Given the description of an element on the screen output the (x, y) to click on. 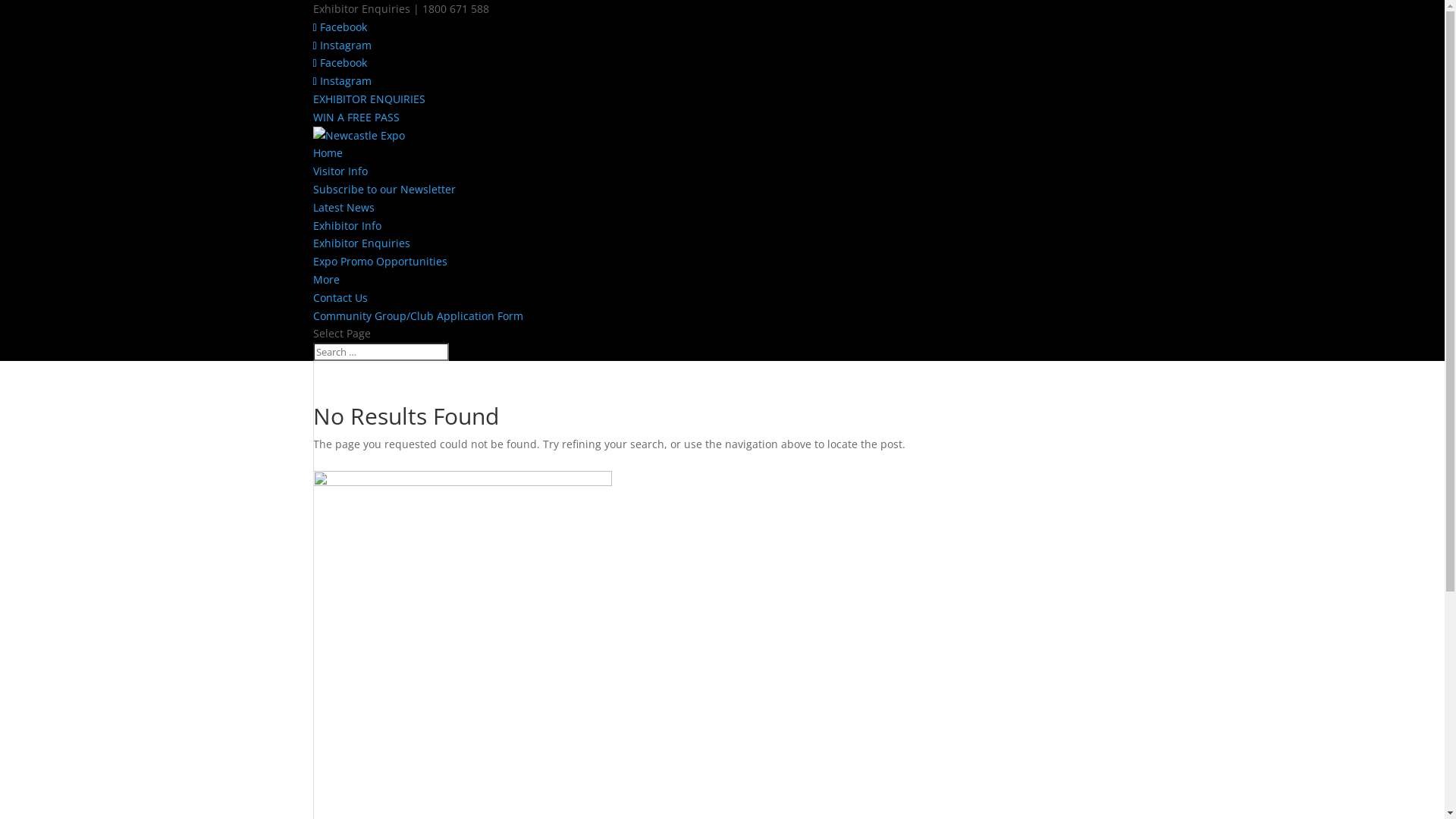
Facebook Element type: text (339, 62)
Home Element type: text (327, 152)
Subscribe to our Newsletter Element type: text (383, 189)
Latest News Element type: text (342, 207)
EXHIBITOR ENQUIRIES Element type: text (368, 98)
Instagram Element type: text (341, 44)
Search for: Element type: hover (380, 351)
Exhibitor Enquiries Element type: text (360, 242)
Instagram Element type: text (341, 80)
Exhibitor Info Element type: text (346, 225)
Community Group/Club Application Form Element type: text (417, 315)
Expo Promo Opportunities Element type: text (379, 261)
Contact Us Element type: text (339, 297)
WIN A FREE PASS Element type: text (355, 116)
Facebook Element type: text (339, 26)
Visitor Info Element type: text (339, 170)
More Element type: text (325, 279)
